Given the description of an element on the screen output the (x, y) to click on. 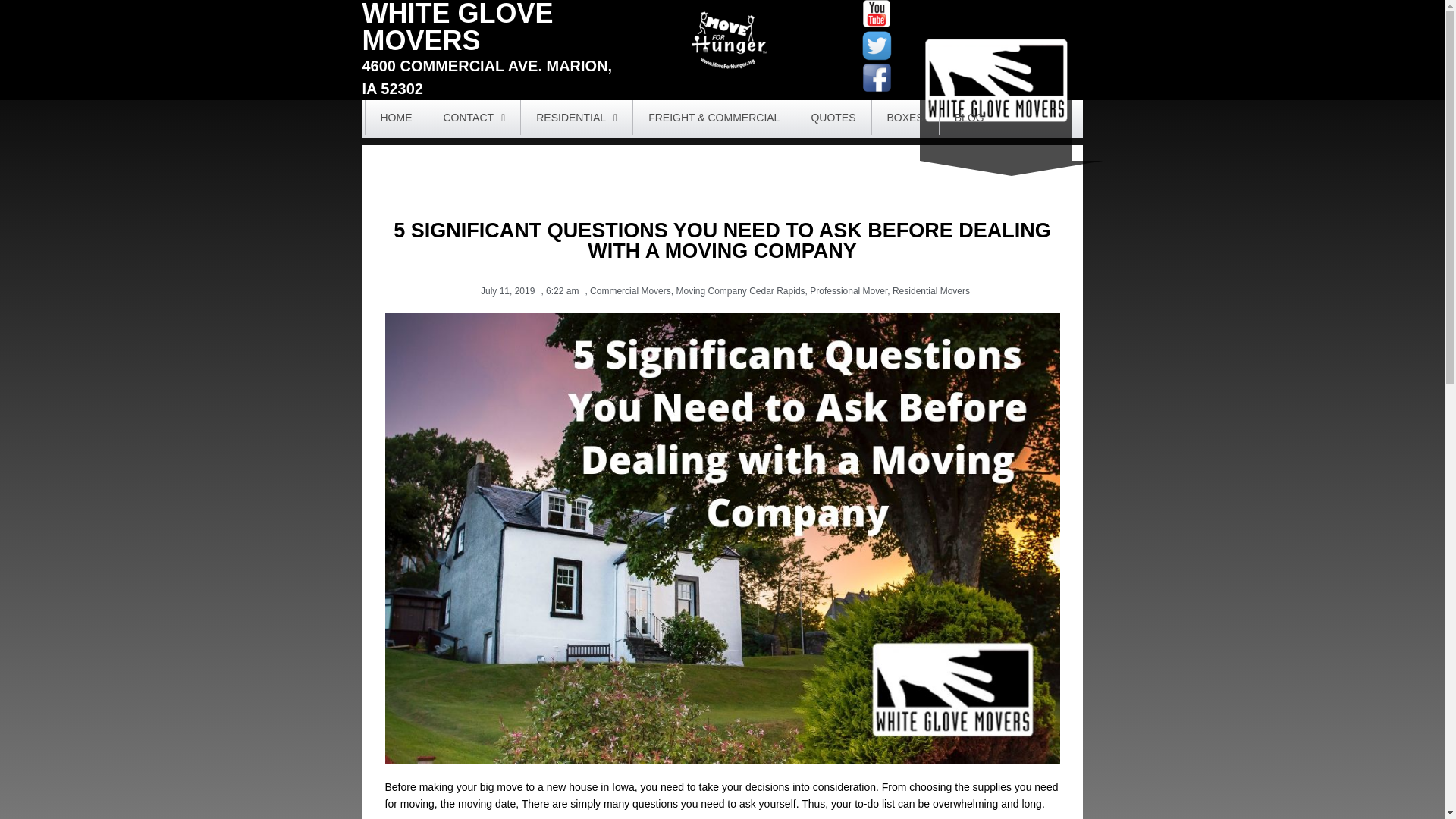
Commercial Movers (630, 290)
Moving Company Cedar Rapids (740, 290)
HOME (396, 117)
Residential Movers (930, 290)
BOXES (905, 117)
BLOG (968, 117)
Professional Mover (847, 290)
CONTACT (473, 117)
QUOTES (832, 117)
July 11, 2019 (504, 291)
RESIDENTIAL (576, 117)
